Given the description of an element on the screen output the (x, y) to click on. 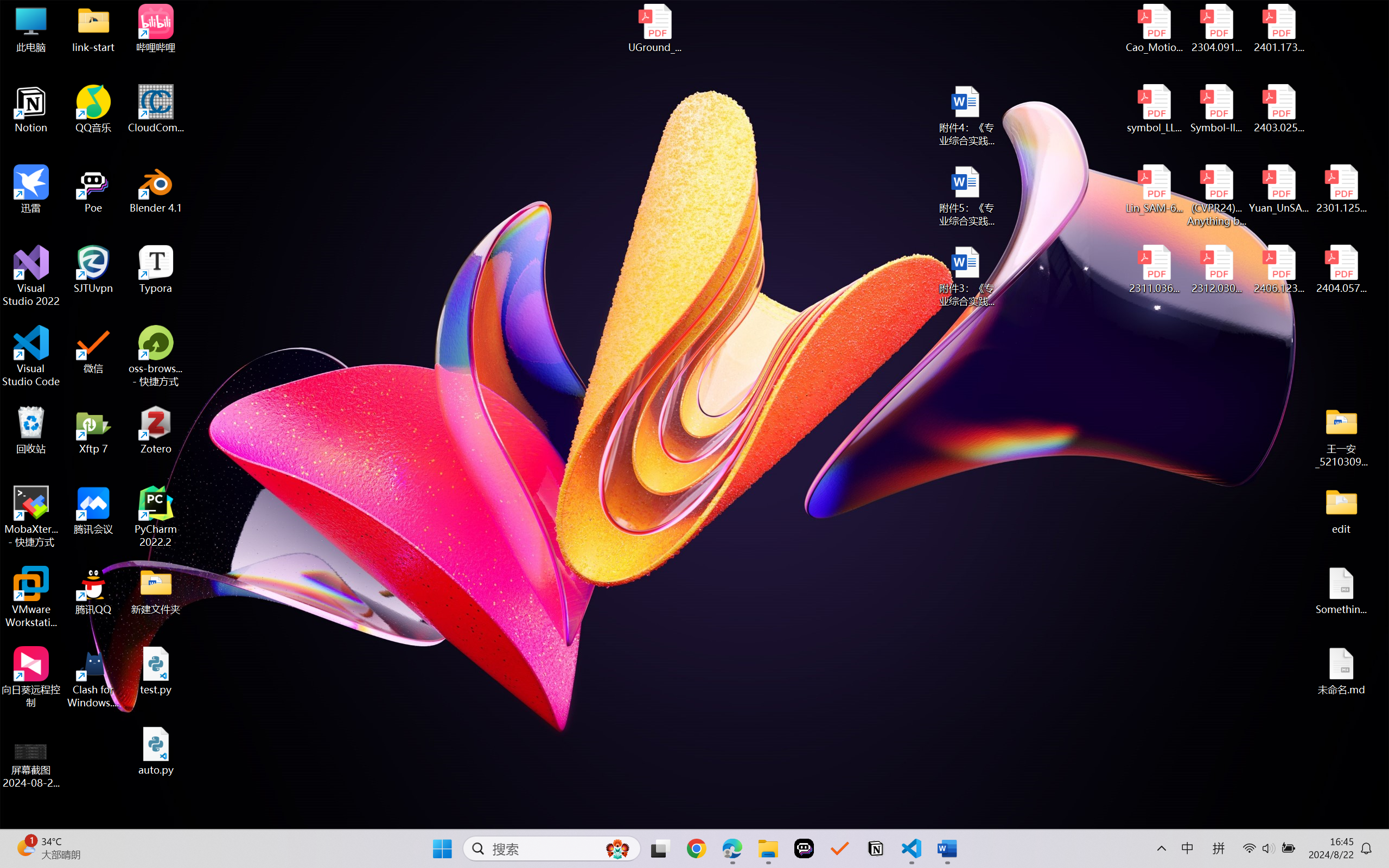
2404.05719v1.pdf (1340, 269)
UGround_paper.pdf (654, 28)
(CVPR24)Matching Anything by Segmenting Anything.pdf (1216, 195)
Xftp 7 (93, 430)
